Given the description of an element on the screen output the (x, y) to click on. 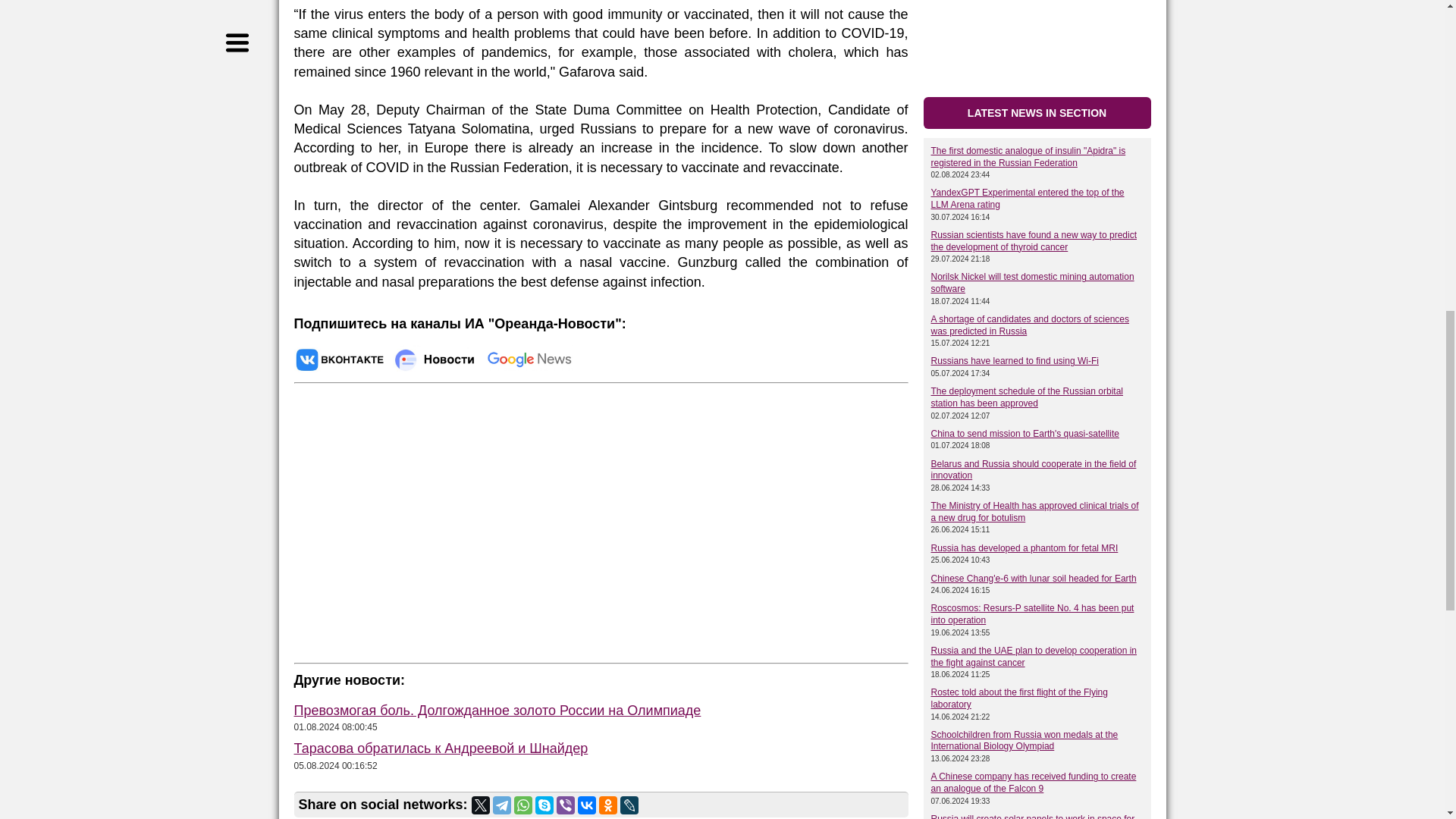
Telegram (502, 805)
Viber (565, 805)
LiveJournal (629, 805)
WhatsApp (522, 805)
Skype (544, 805)
Twitter (480, 805)
